Given the description of an element on the screen output the (x, y) to click on. 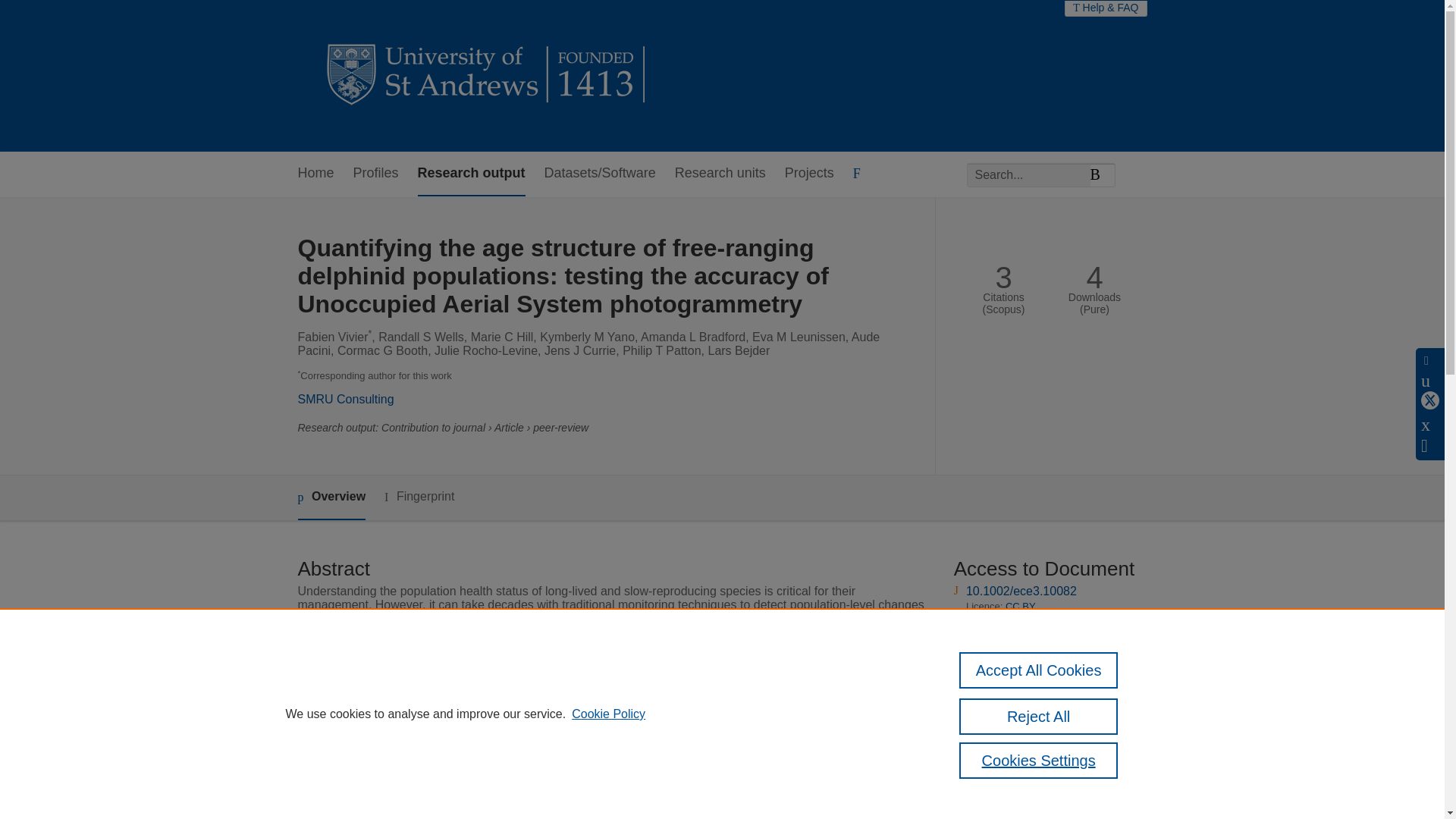
Fingerprint (419, 496)
CC BY (1020, 605)
Research output (471, 173)
CC BY (1020, 772)
Overview (331, 497)
University of St Andrews Research Portal Home (487, 75)
SMRU Consulting (345, 399)
Projects (809, 173)
Research units (720, 173)
Profiles (375, 173)
